Given the description of an element on the screen output the (x, y) to click on. 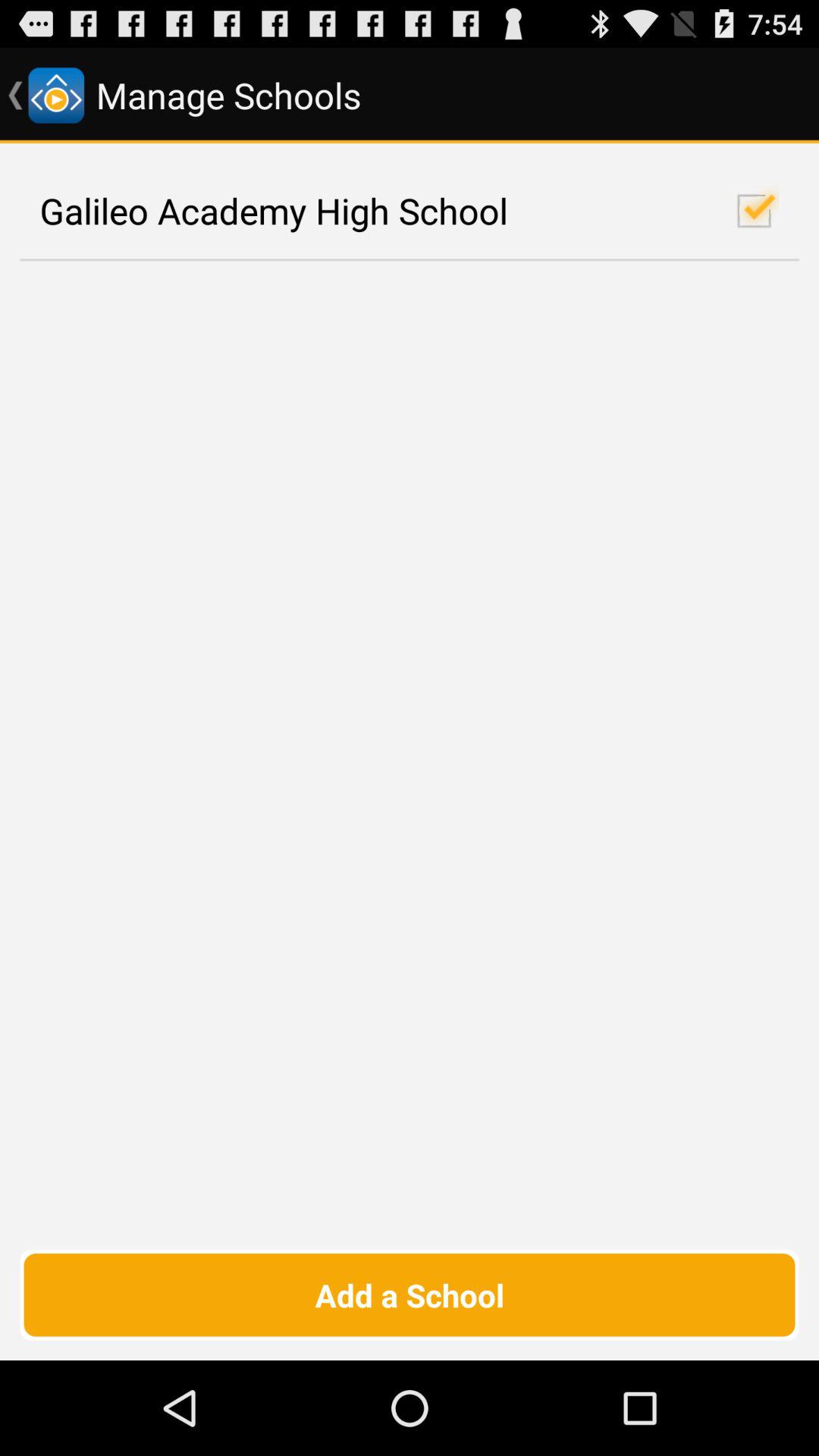
click icon at the top (409, 210)
